Given the description of an element on the screen output the (x, y) to click on. 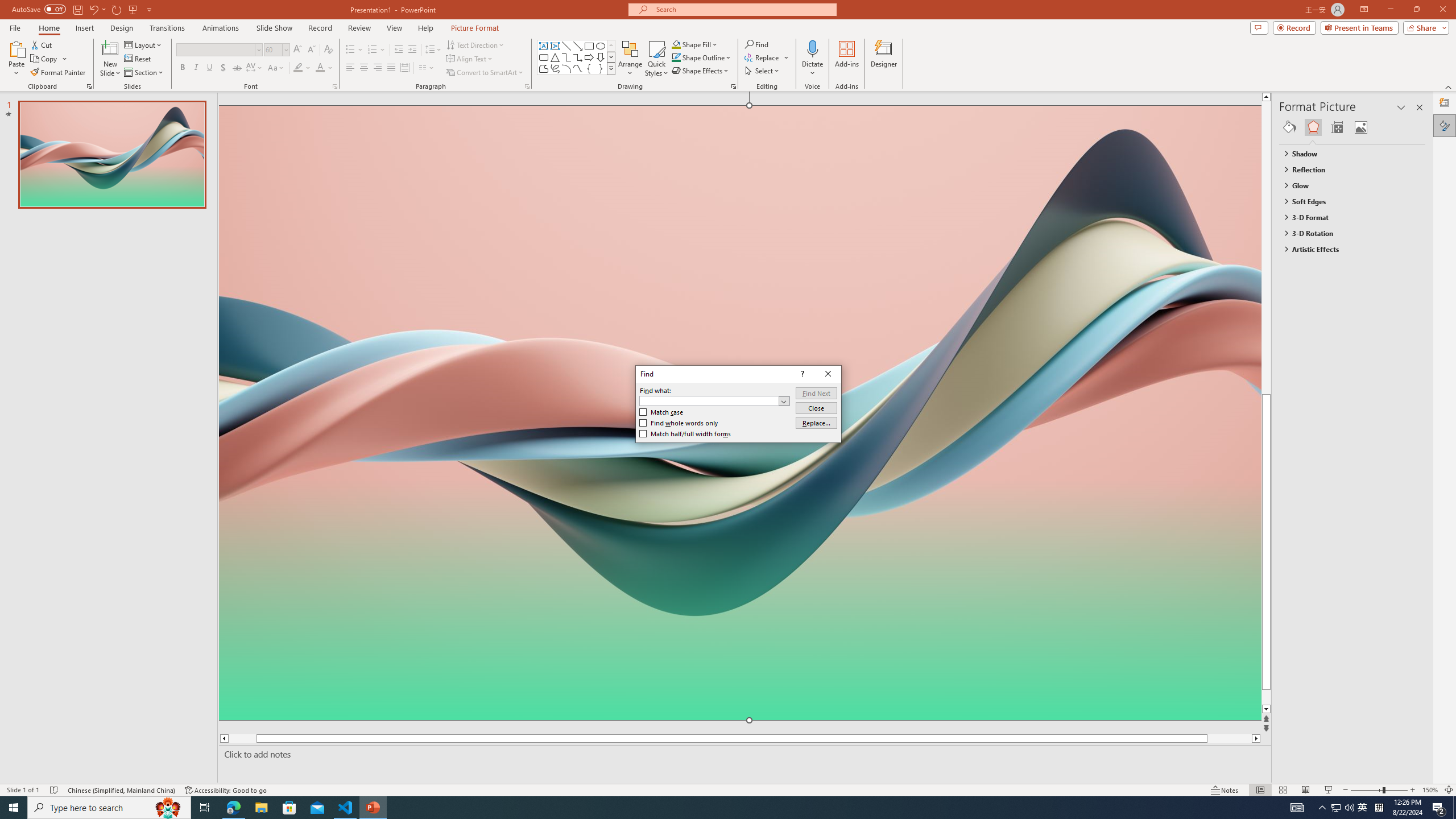
Effects (1313, 126)
3-D Format (1347, 217)
Match half/full width forms (685, 433)
